Given the description of an element on the screen output the (x, y) to click on. 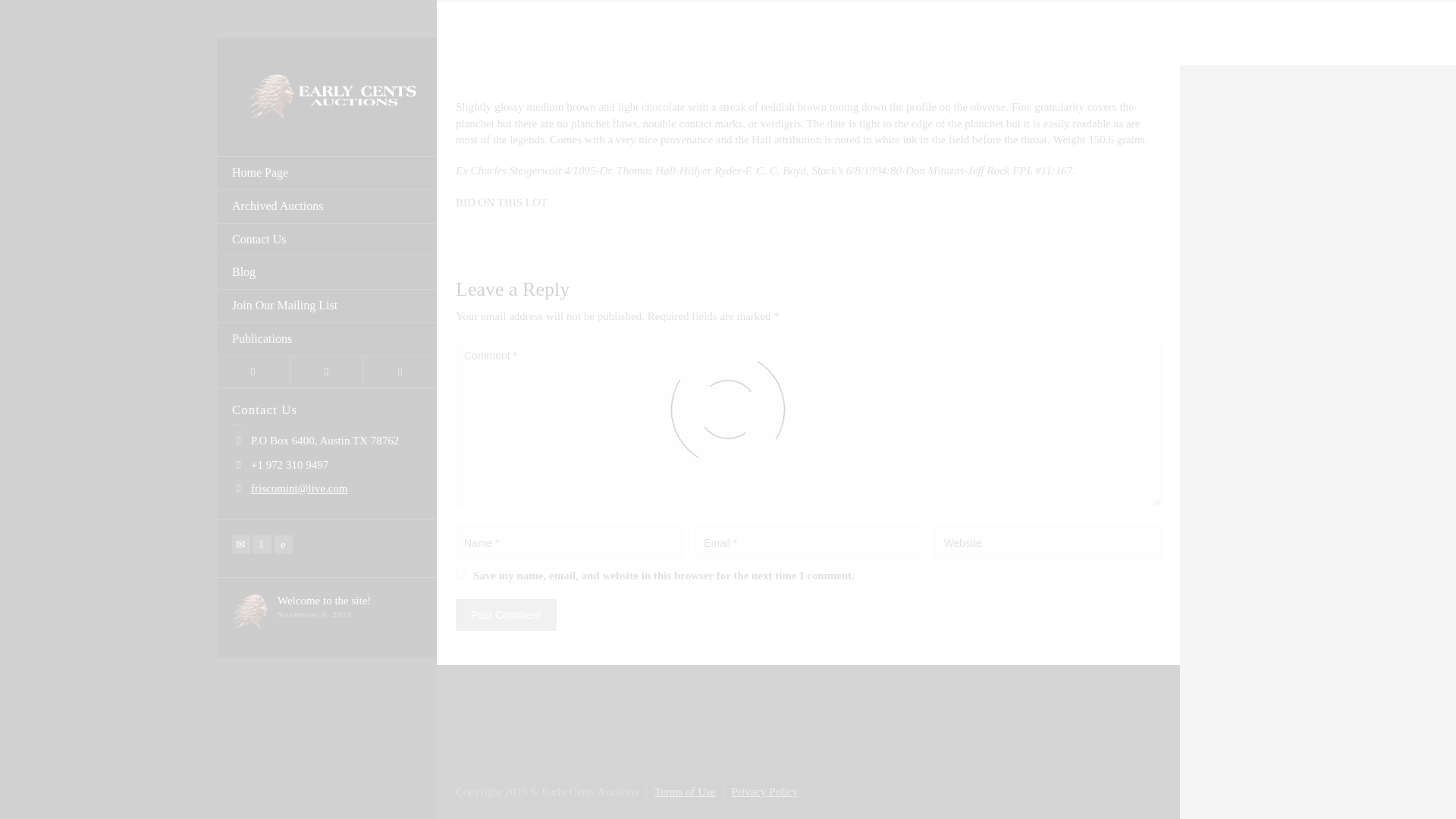
Login (252, 335)
Publications (326, 303)
Early Cents Auctions (326, 59)
Archived Auctions (326, 170)
Welcome to the site! (324, 563)
Home Page (326, 136)
Blog (326, 236)
Post Comment (505, 614)
yes (460, 574)
Join Our Mailing List (326, 269)
Facebook (261, 507)
eBay (283, 507)
Email (240, 507)
Search (399, 335)
Cart (326, 335)
